Given the description of an element on the screen output the (x, y) to click on. 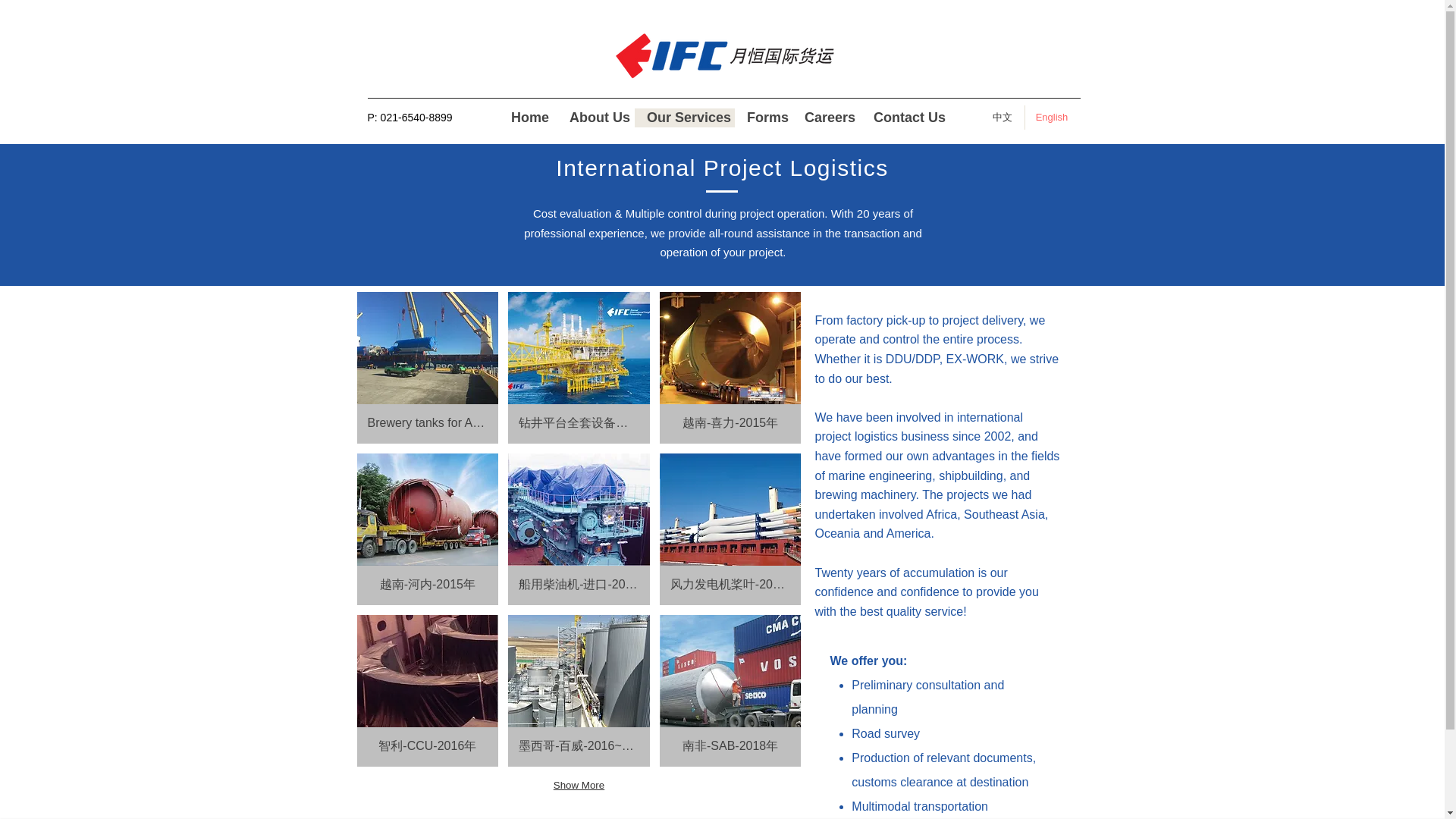
Forms (763, 117)
About Us (595, 117)
Show More (579, 784)
Our Services (684, 117)
Contact Us (905, 117)
Home (528, 117)
Careers (826, 117)
English (1052, 117)
